Given the description of an element on the screen output the (x, y) to click on. 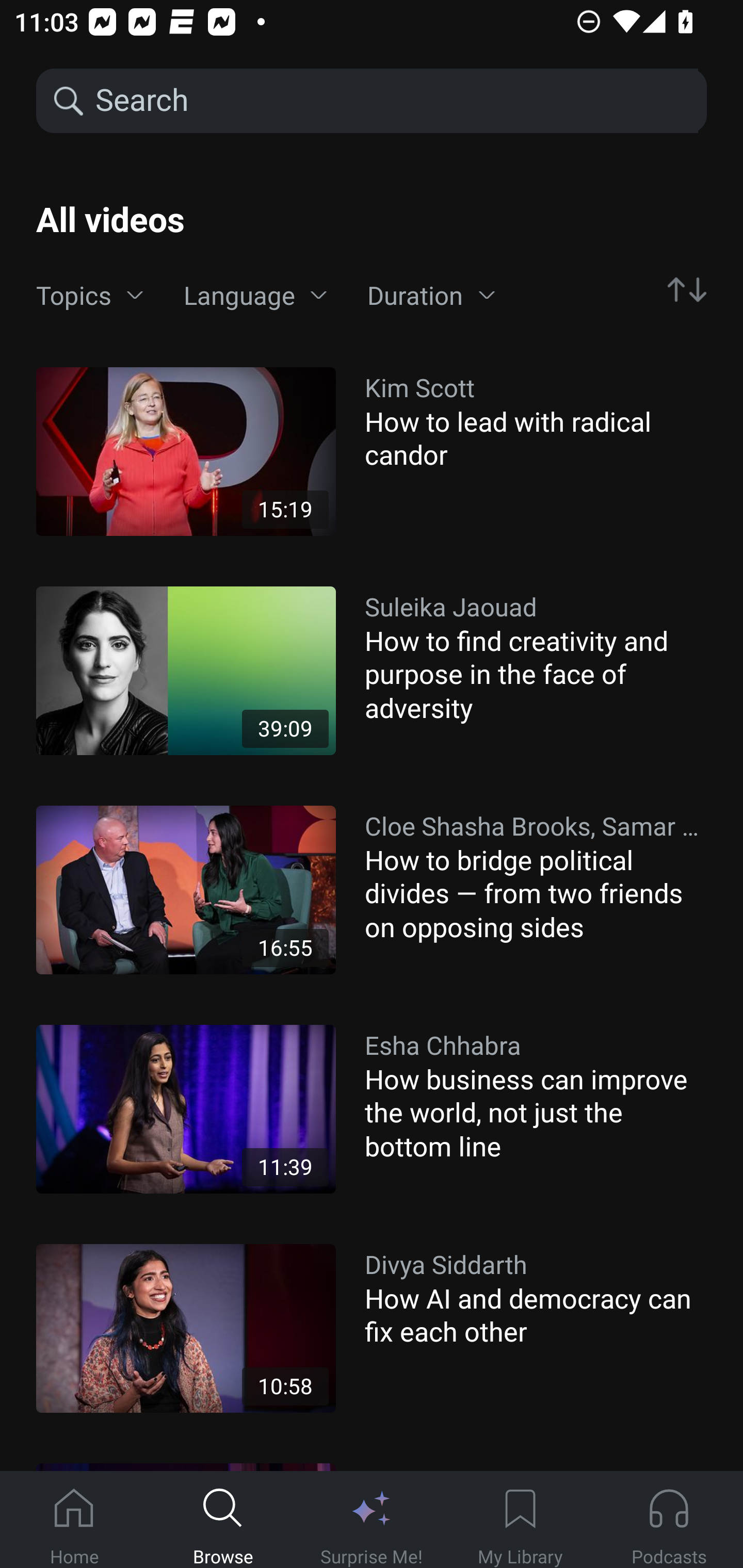
Search (395, 100)
Topics (90, 295)
Language (255, 295)
Duration (431, 295)
15:19 Kim Scott How to lead with radical candor (371, 451)
Home (74, 1520)
Browse (222, 1520)
Surprise Me! (371, 1520)
My Library (519, 1520)
Podcasts (668, 1520)
